Given the description of an element on the screen output the (x, y) to click on. 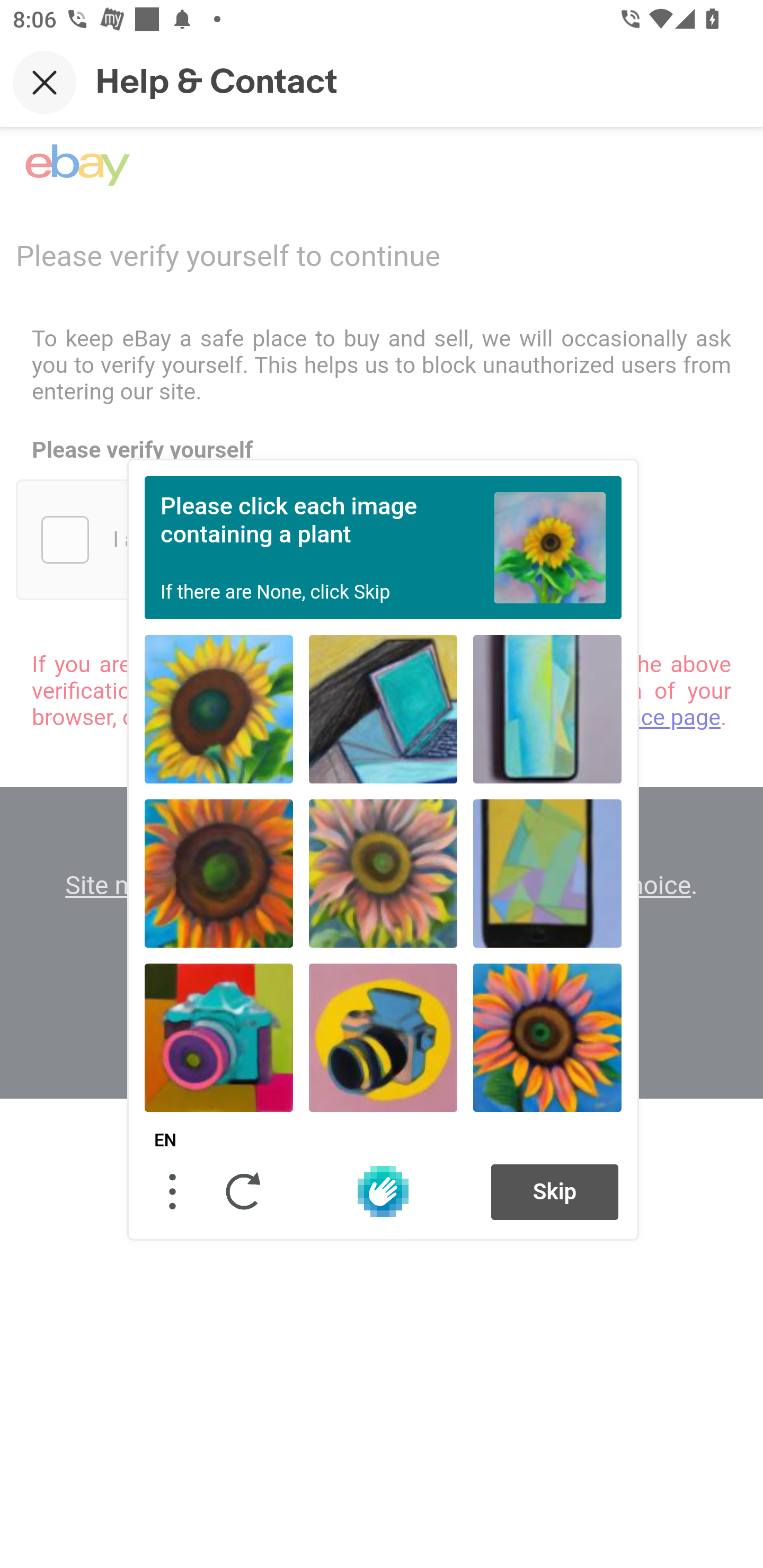
Close (44, 82)
eBay Home (77, 165)
Example image 1 (549, 546)
Challenge Image 1 (218, 708)
Challenge Image 2 (382, 708)
Challenge Image 3 (546, 708)
Challenge Image 4 (218, 873)
Challenge Image 5 (382, 873)
Challenge Image 6 (546, 873)
Challenge Image 7 (218, 1036)
Challenge Image 8 (382, 1036)
Challenge Image 9 (546, 1036)
Select a language English EN English (165, 1140)
Skip Challenge (554, 1191)
Refresh Challenge. (243, 1190)
hCaptcha (382, 1190)
